Given the description of an element on the screen output the (x, y) to click on. 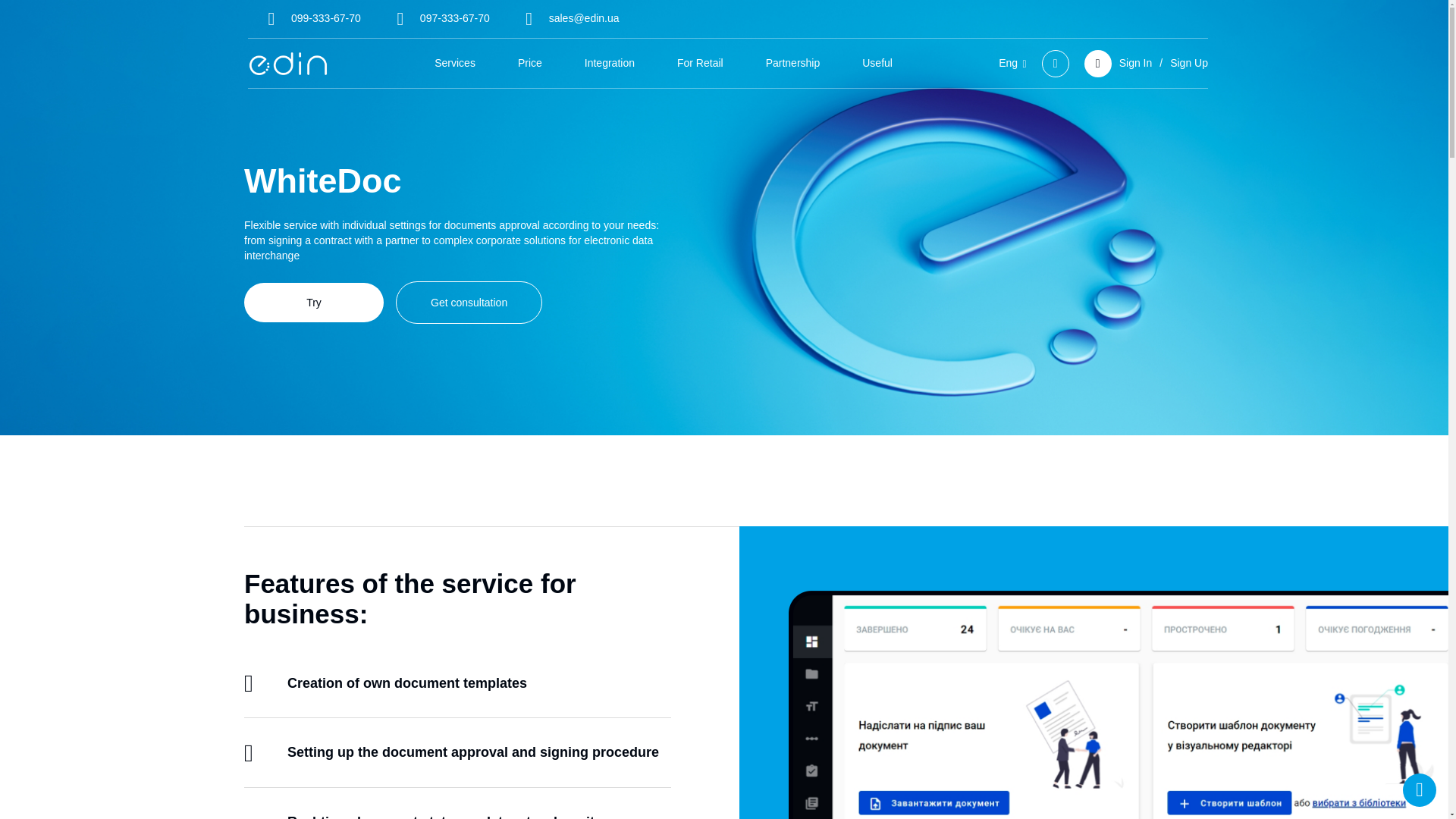
Integration (609, 62)
099-333-67-70 (310, 18)
097-333-67-70 (438, 18)
